Given the description of an element on the screen output the (x, y) to click on. 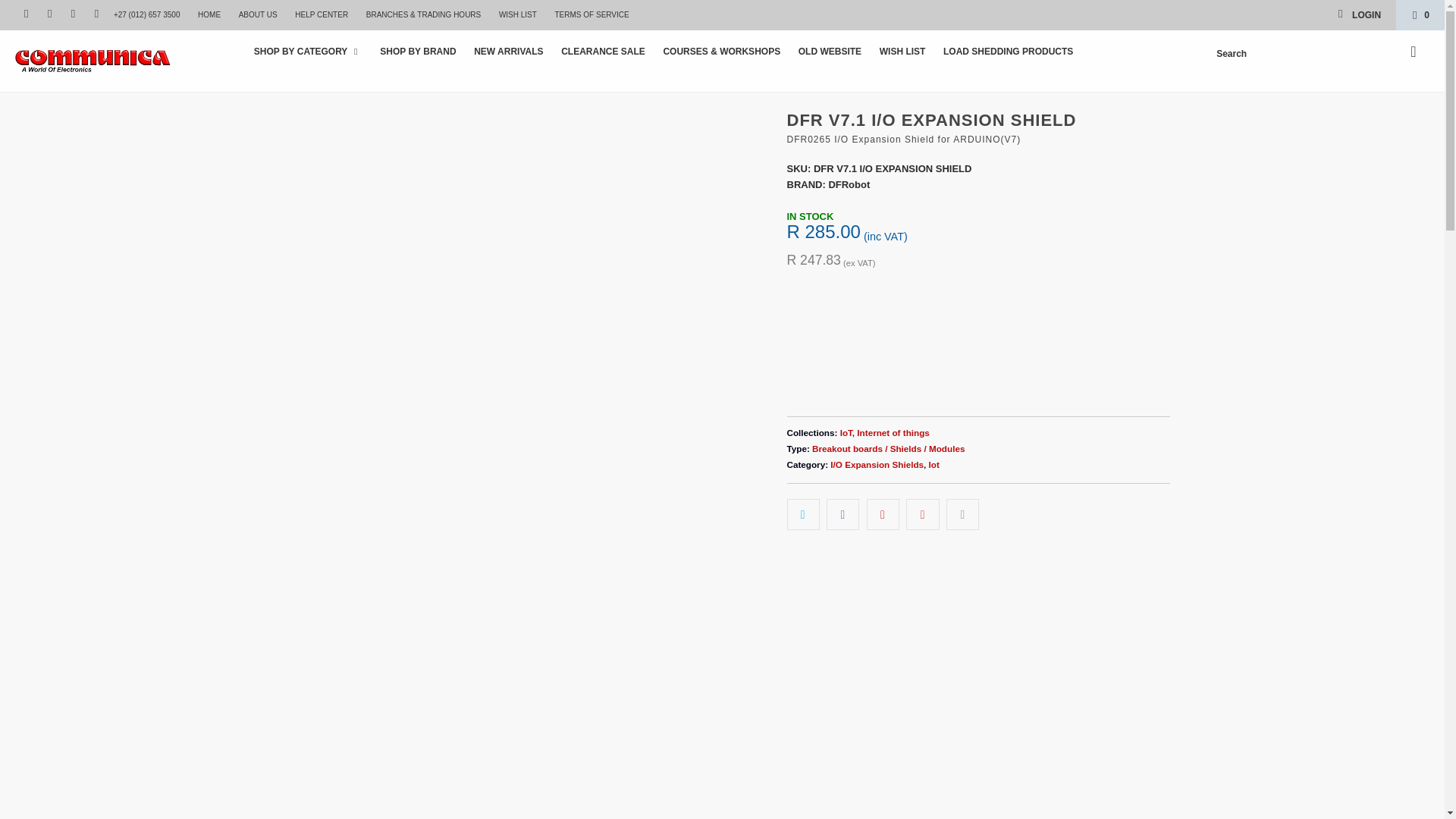
Communica South Africa on Instagram (71, 14)
Share this on Facebook (843, 513)
Communica South Africa on Twitter (25, 14)
Communica South Africa on Facebook (48, 14)
My Account  (1358, 15)
Email this to a friend (962, 513)
Communica South Africa on LinkedIn (94, 14)
Share this on Twitter (803, 513)
Products tagged Iot (933, 464)
IoT, Internet of things (885, 432)
